Given the description of an element on the screen output the (x, y) to click on. 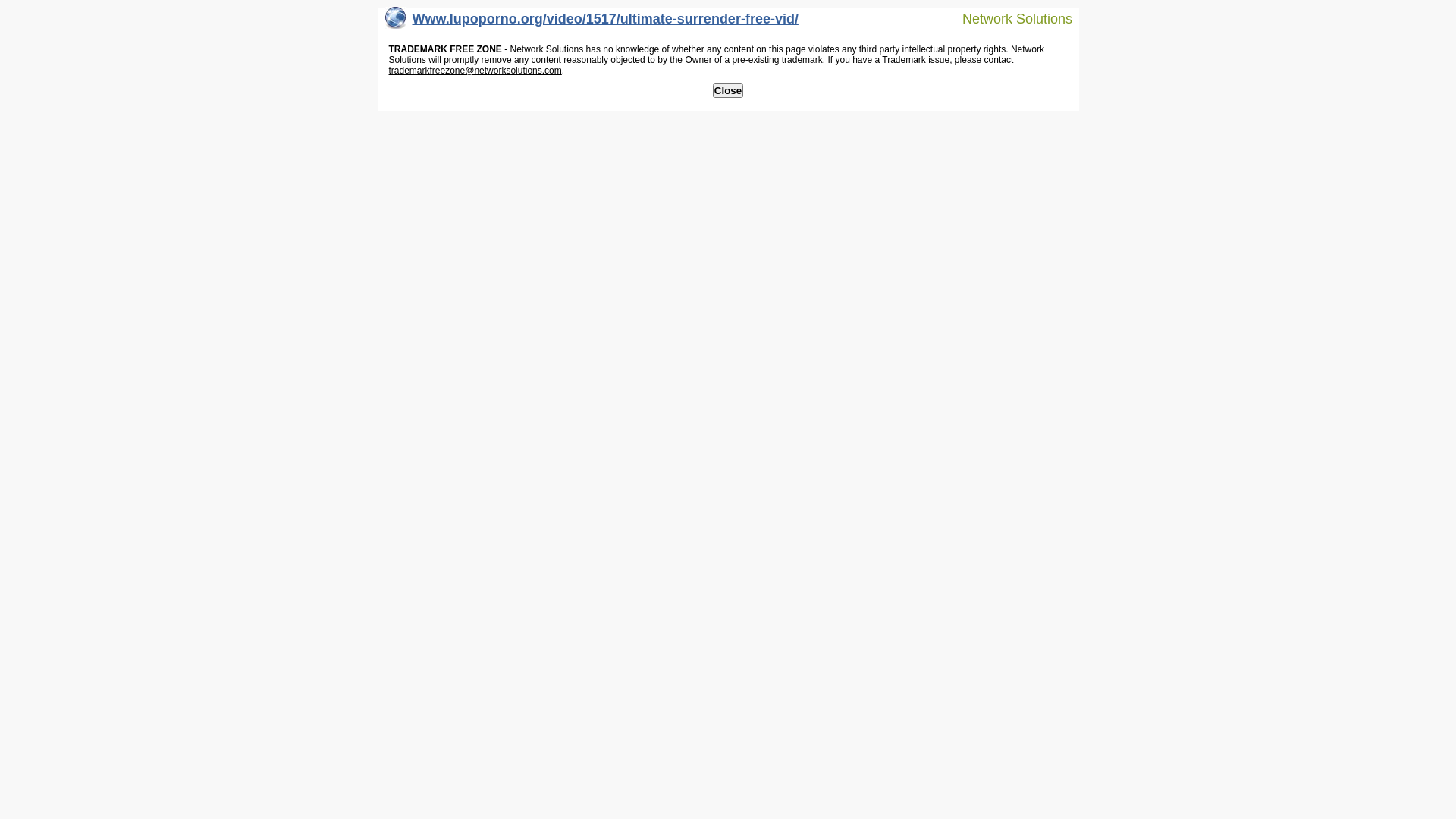
Close Element type: text (727, 90)
Network Solutions Element type: text (1007, 17)
Www.lupoporno.org/video/1517/ultimate-surrender-free-vid/ Element type: text (591, 21)
trademarkfreezone@networksolutions.com Element type: text (474, 70)
